Given the description of an element on the screen output the (x, y) to click on. 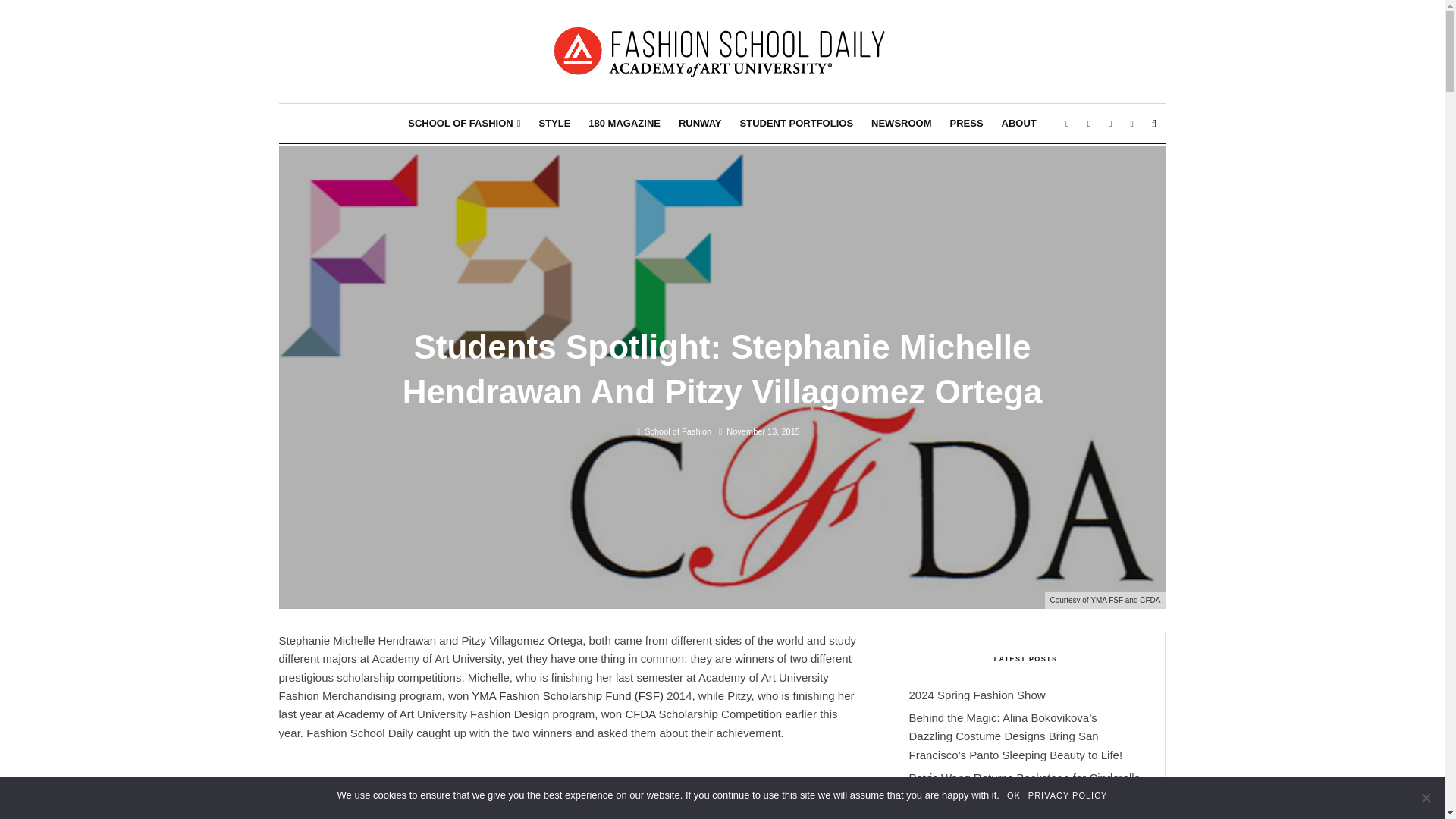
RUNWAY (699, 123)
180 MAGAZINE (624, 123)
STYLE (554, 123)
SCHOOL OF FASHION (463, 123)
STUDENT PORTFOLIOS (796, 123)
No (1425, 797)
